Given the description of an element on the screen output the (x, y) to click on. 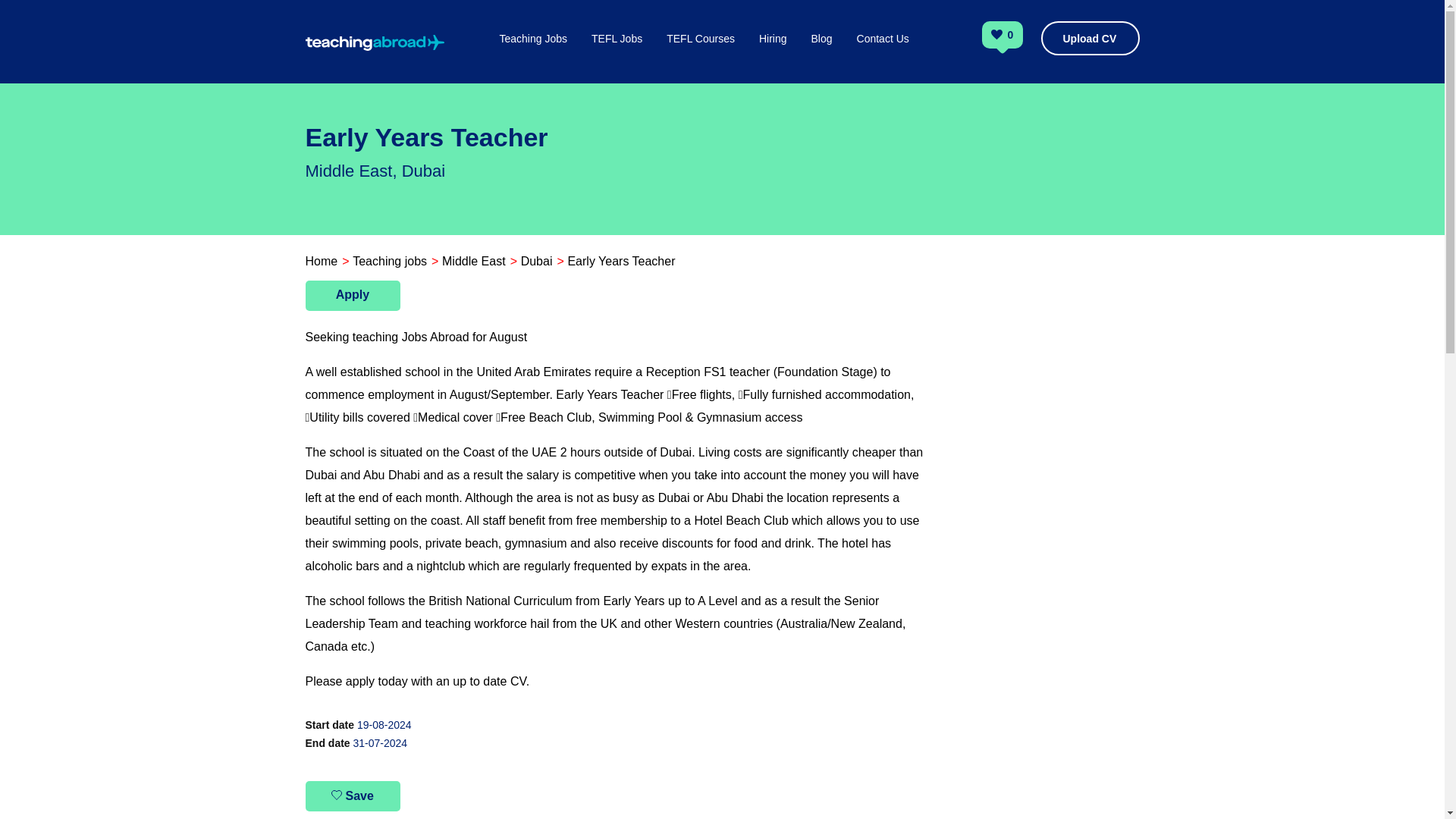
Contact Us (882, 55)
Home (320, 260)
Dubai (537, 260)
0 (1011, 36)
TEFL Jobs (616, 55)
Middle East (473, 260)
Teaching Jobs (533, 55)
Upload CV (1089, 38)
TEFL Courses (700, 55)
Apply (351, 295)
